Given the description of an element on the screen output the (x, y) to click on. 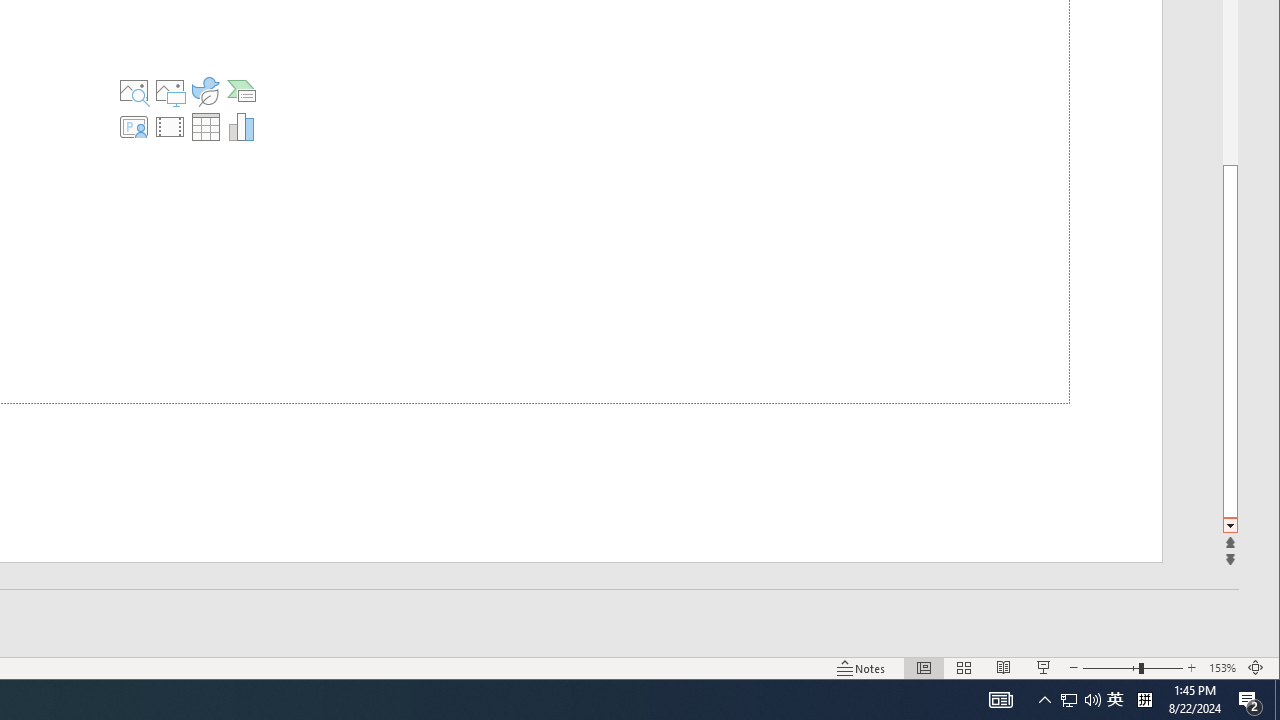
Pictures (169, 90)
Insert Video (169, 126)
Insert Chart (242, 126)
Stock Images (133, 90)
